Given the description of an element on the screen output the (x, y) to click on. 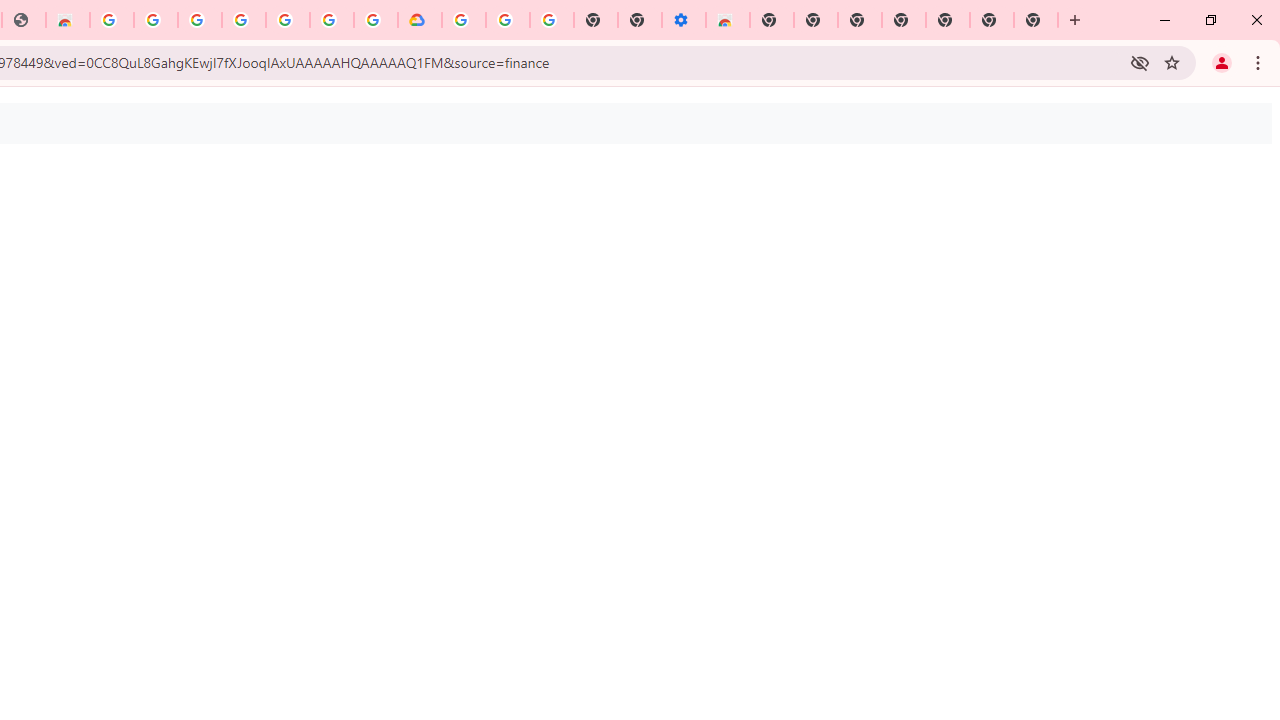
Sign in - Google Accounts (199, 20)
Ad Settings (155, 20)
Settings - Accessibility (683, 20)
Chrome Web Store - Household (67, 20)
New Tab (1035, 20)
Turn cookies on or off - Computer - Google Account Help (551, 20)
Google Account Help (507, 20)
New Tab (771, 20)
